Given the description of an element on the screen output the (x, y) to click on. 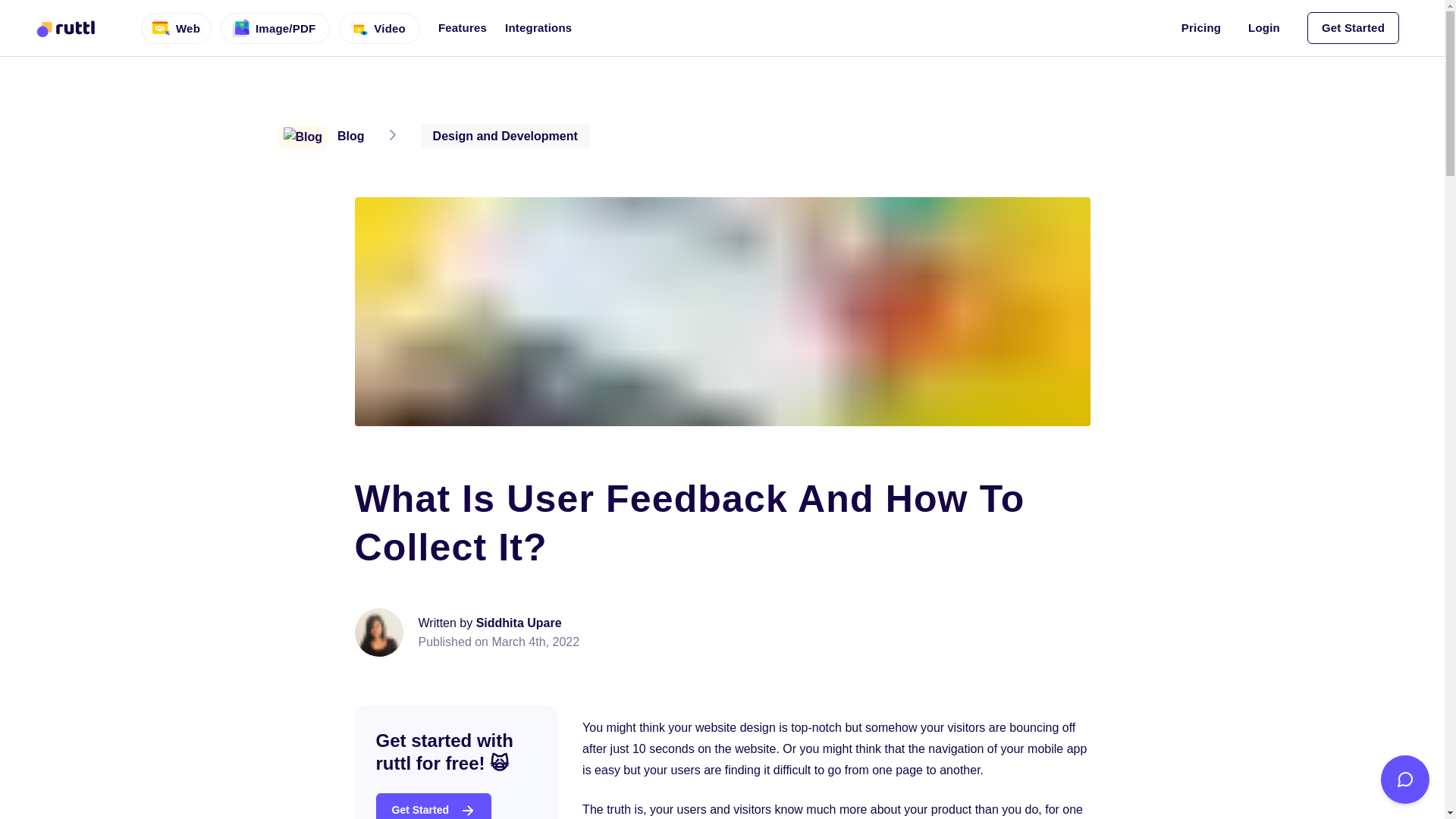
Integrations (538, 27)
Features (462, 31)
ruttl logo (66, 28)
Get Started (433, 806)
Web (176, 27)
Video (379, 27)
Pricing (1200, 27)
Blog (322, 135)
Login (1263, 27)
Get Started (1353, 28)
